Given the description of an element on the screen output the (x, y) to click on. 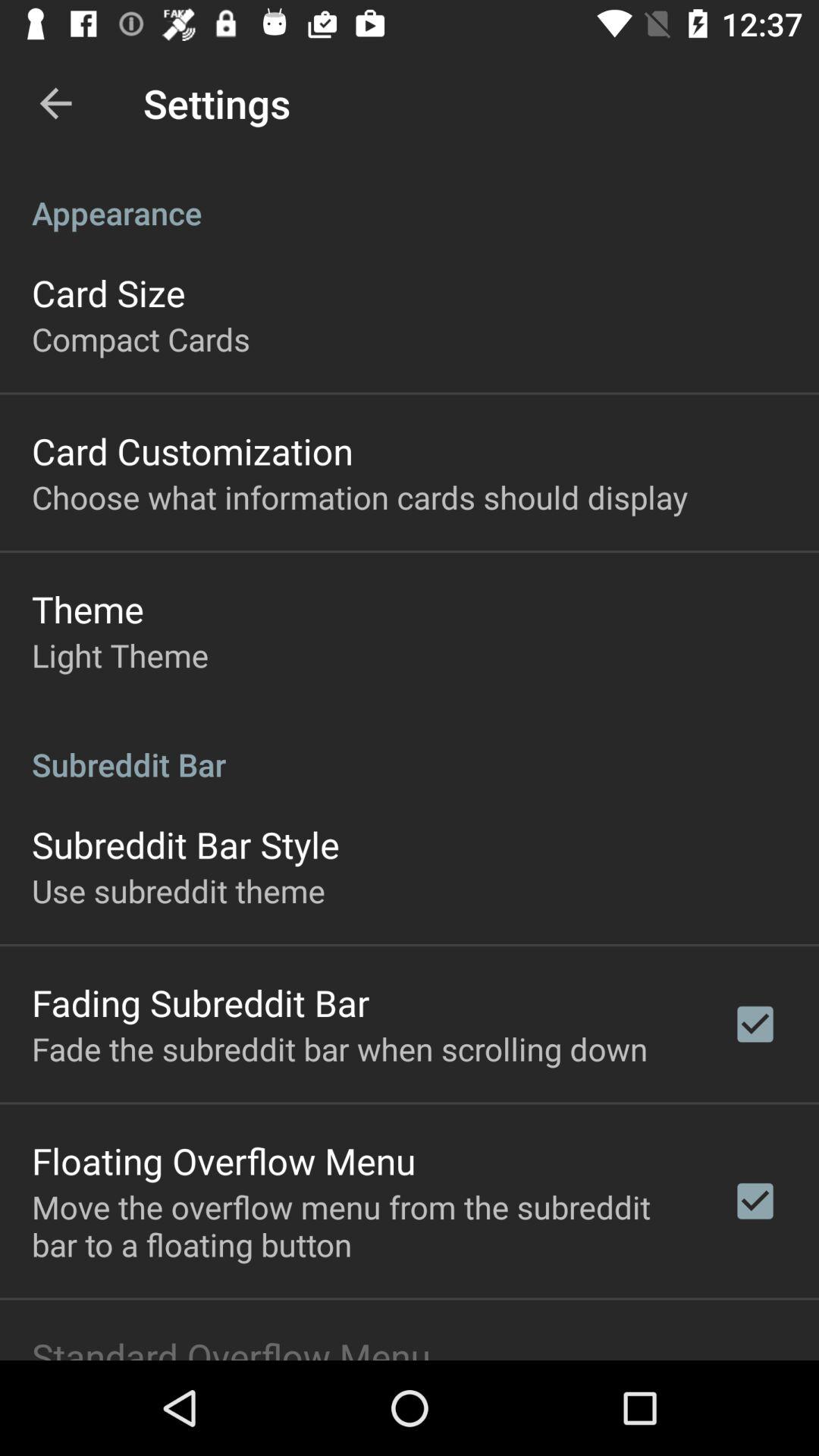
press the move the overflow item (361, 1225)
